Given the description of an element on the screen output the (x, y) to click on. 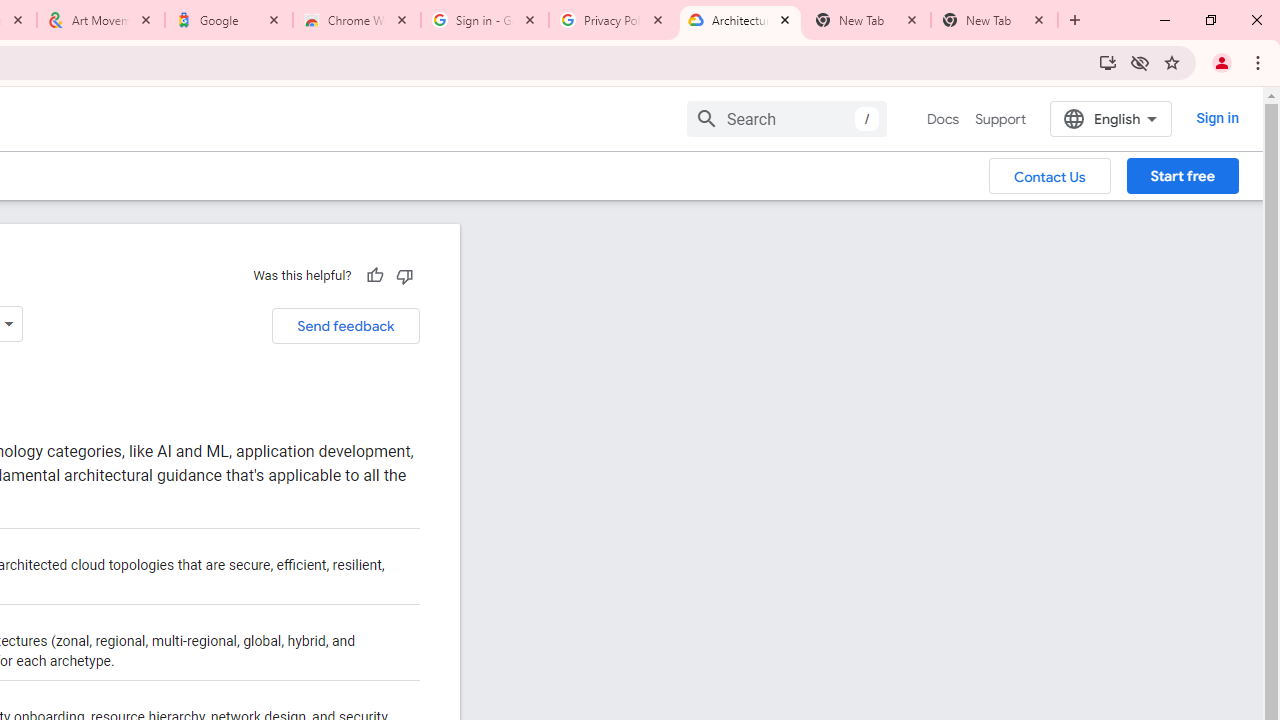
Install Google Cloud (1107, 62)
Contact Us (1050, 175)
Send feedback (345, 326)
Start free (1182, 175)
Not helpful (404, 275)
English (1110, 118)
